Given the description of an element on the screen output the (x, y) to click on. 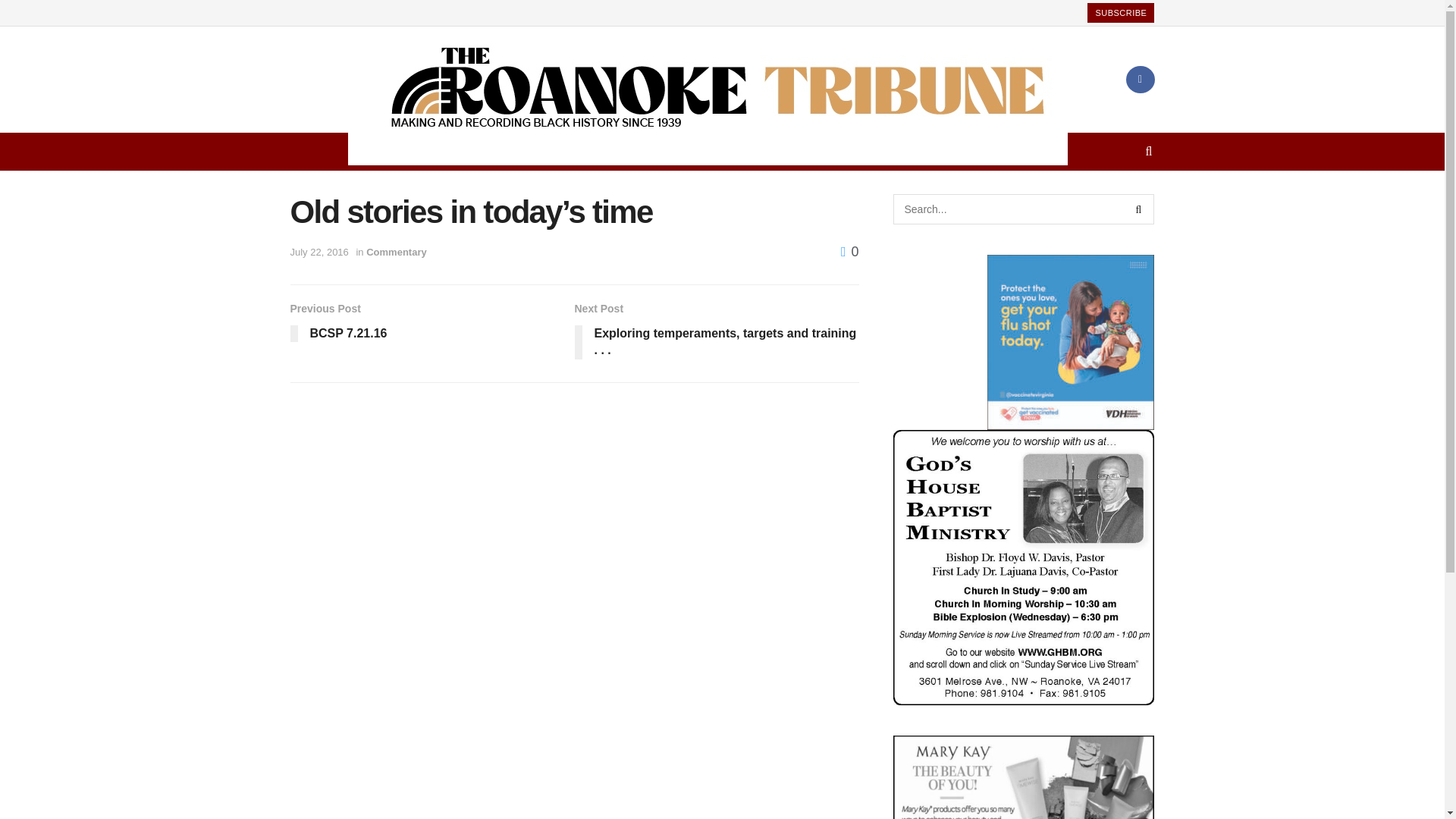
Regional News (509, 151)
Our History (867, 151)
Commentary (431, 324)
July 22, 2016 (396, 251)
Subscribe (318, 251)
0 (935, 151)
Black College Sports (717, 333)
SUBSCRIBE (850, 251)
